Given the description of an element on the screen output the (x, y) to click on. 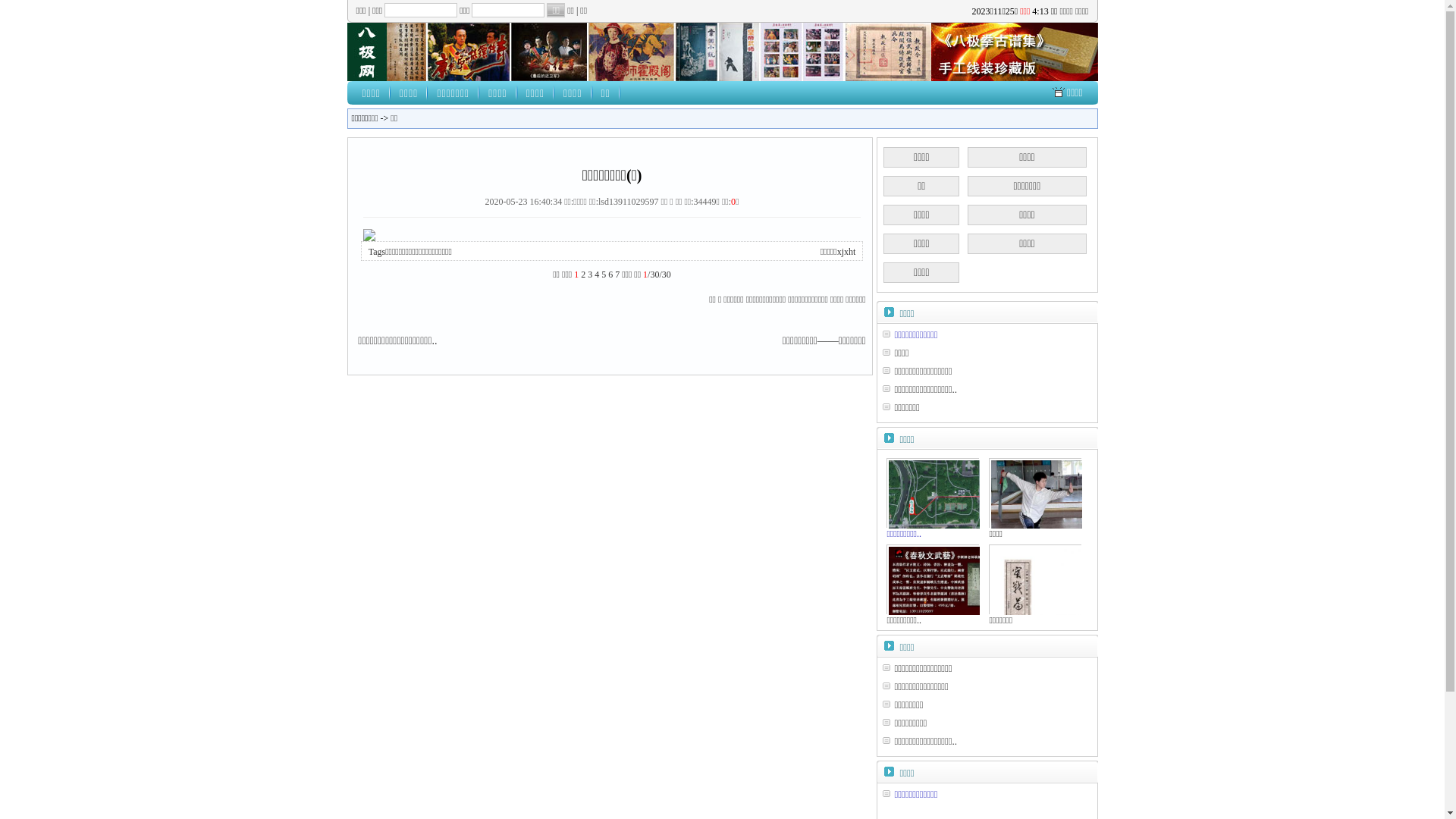
6 Element type: text (610, 274)
1 Element type: text (576, 274)
5 Element type: text (603, 274)
4 Element type: text (596, 274)
1/30/30 Element type: text (657, 274)
xjxht Element type: text (846, 251)
2020-05-23 16:40:34 Element type: text (523, 201)
3 Element type: text (589, 274)
7 Element type: text (617, 274)
2 Element type: text (582, 274)
